Given the description of an element on the screen output the (x, y) to click on. 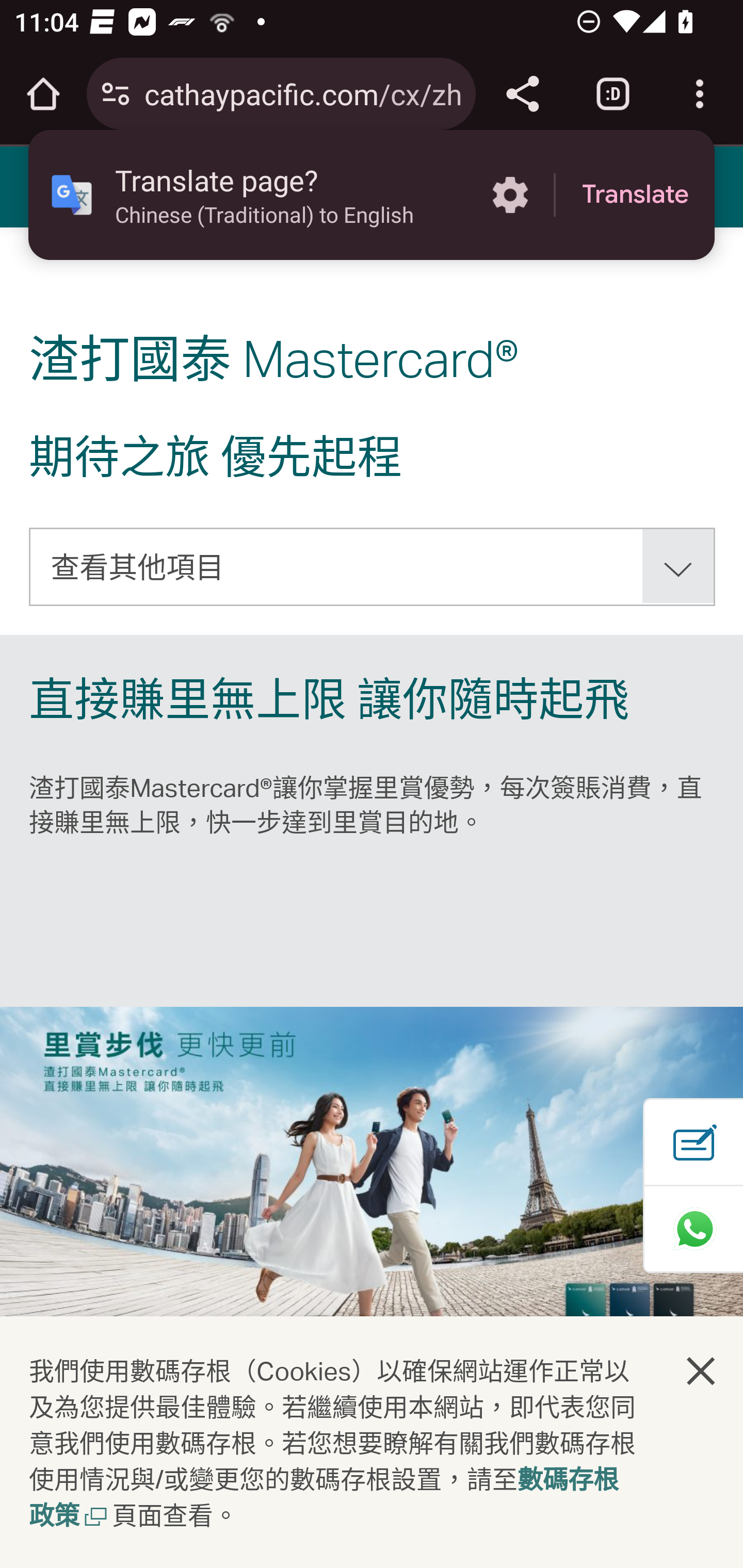
Open the home page (43, 93)
Connection is secure (115, 93)
Share (522, 93)
Switch or close tabs (612, 93)
Customize and control Google Chrome (699, 93)
Translate (634, 195)
功能表 (47, 186)
More options in the Translate page? (509, 195)
查看其他項目 (372, 566)
關閉 (701, 1370)
數碼存根政策, 在新窗口中打开 數碼存根政策 開啟新視窗 (323, 1498)
